Given the description of an element on the screen output the (x, y) to click on. 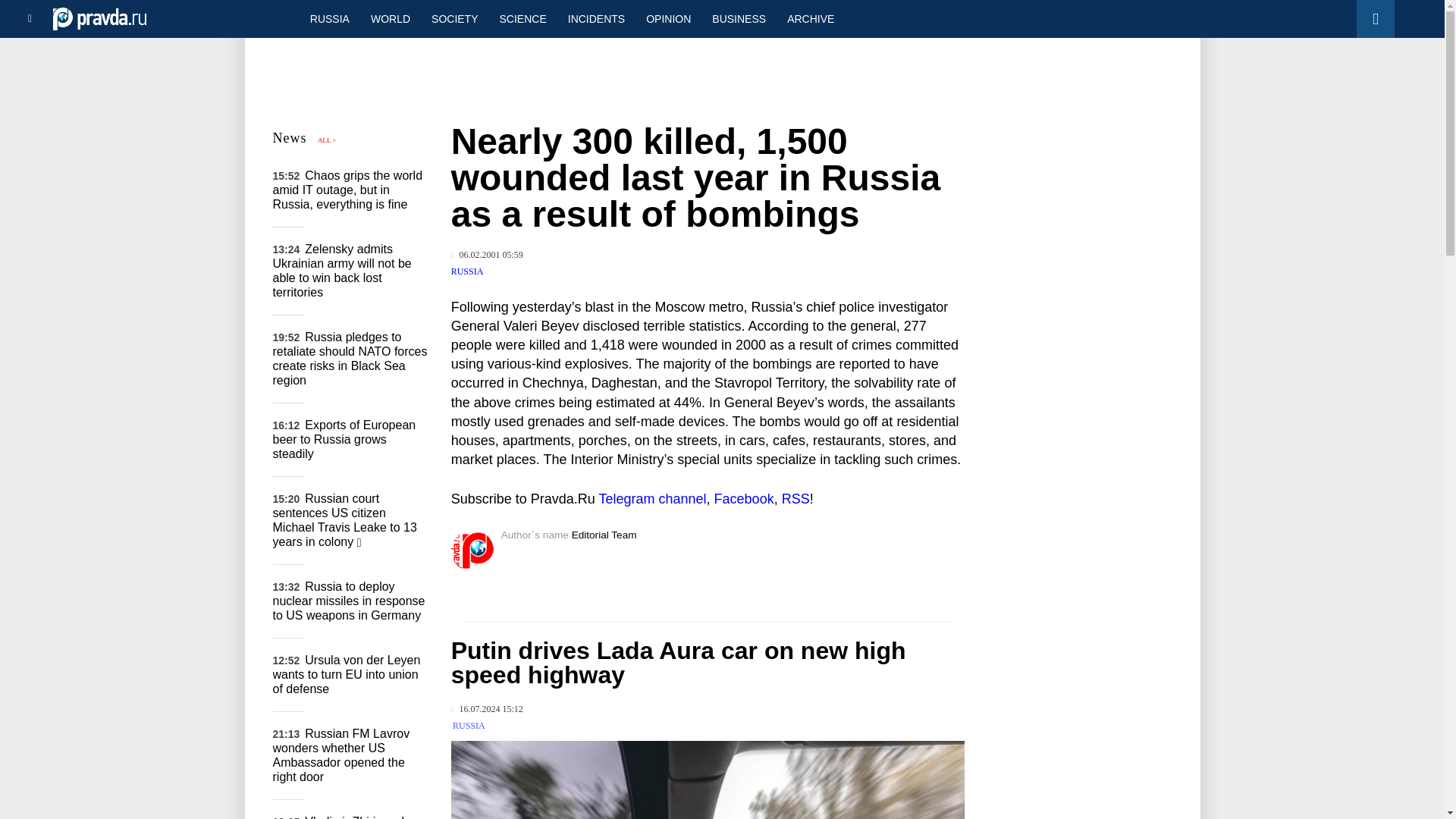
Published (486, 708)
News (290, 137)
Exports of European beer to Russia grows steadily (344, 439)
Editorial Team (604, 534)
RUSSIA (468, 725)
RSS (795, 498)
WORLD (389, 18)
BUSINESS (738, 18)
